Given the description of an element on the screen output the (x, y) to click on. 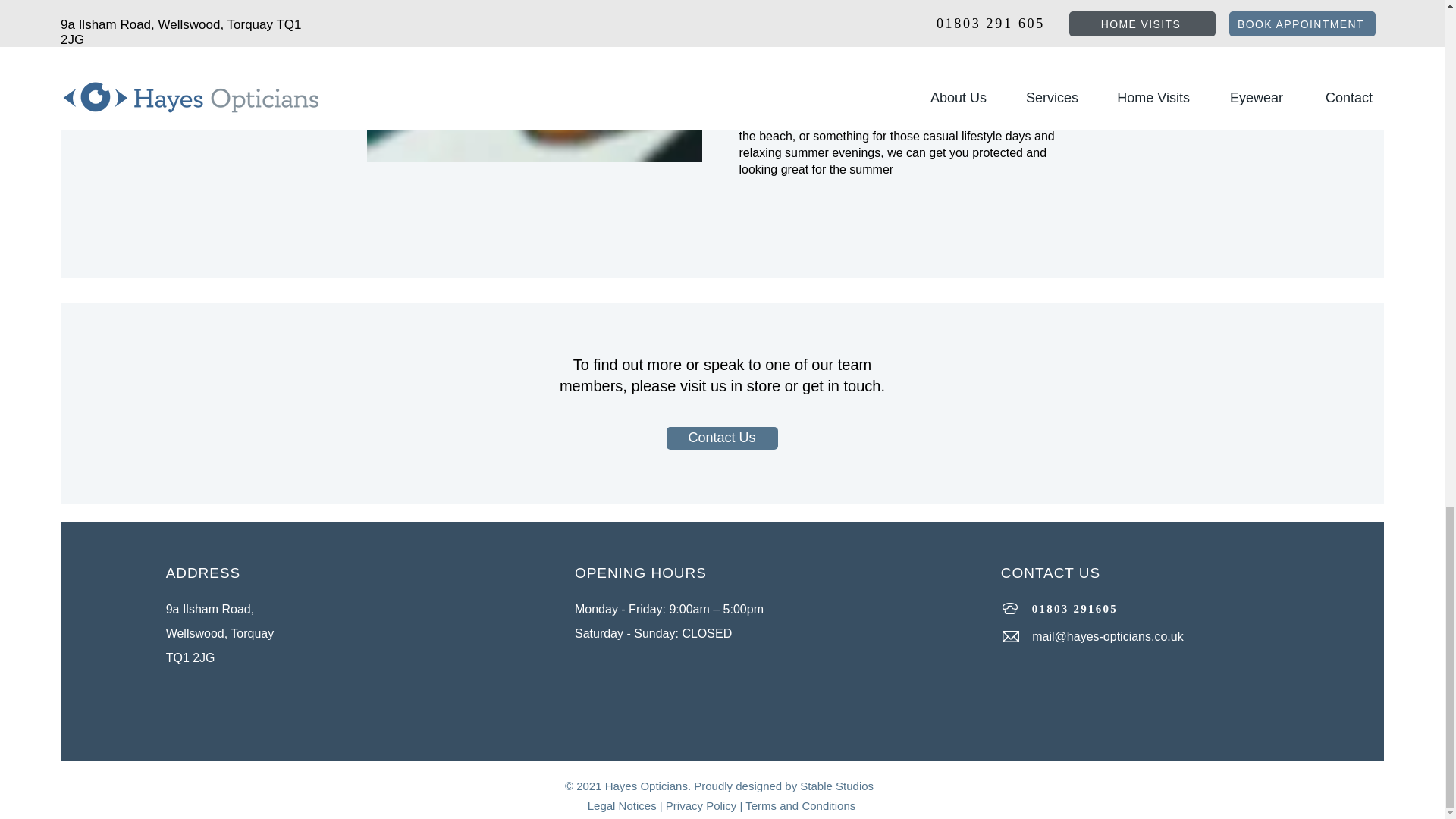
Terms and Conditions (800, 805)
Privacy Policy (700, 805)
Legal Notice (619, 805)
Contact Us (721, 437)
